Given the description of an element on the screen output the (x, y) to click on. 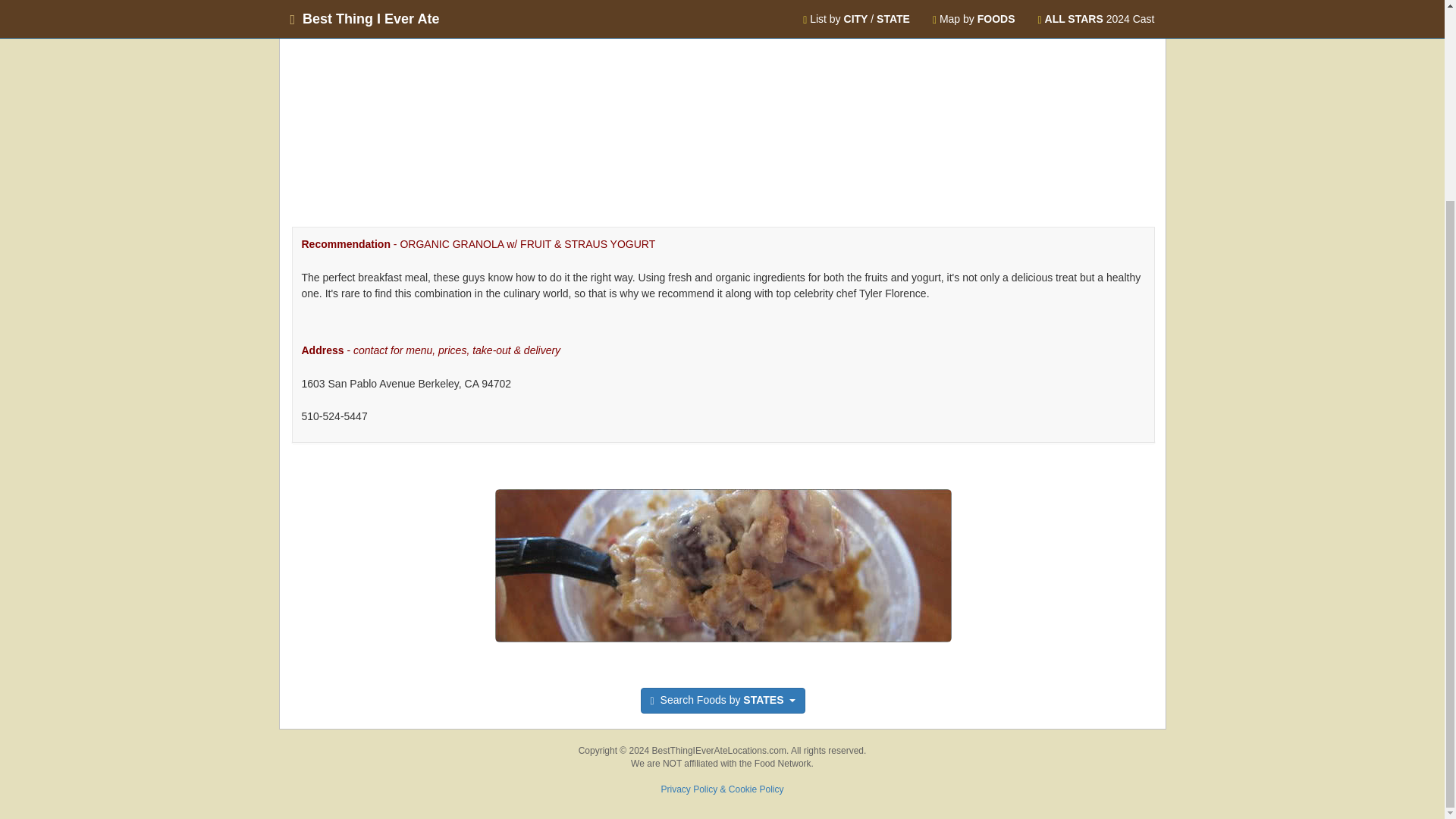
Search Foods by STATES (723, 700)
